Given the description of an element on the screen output the (x, y) to click on. 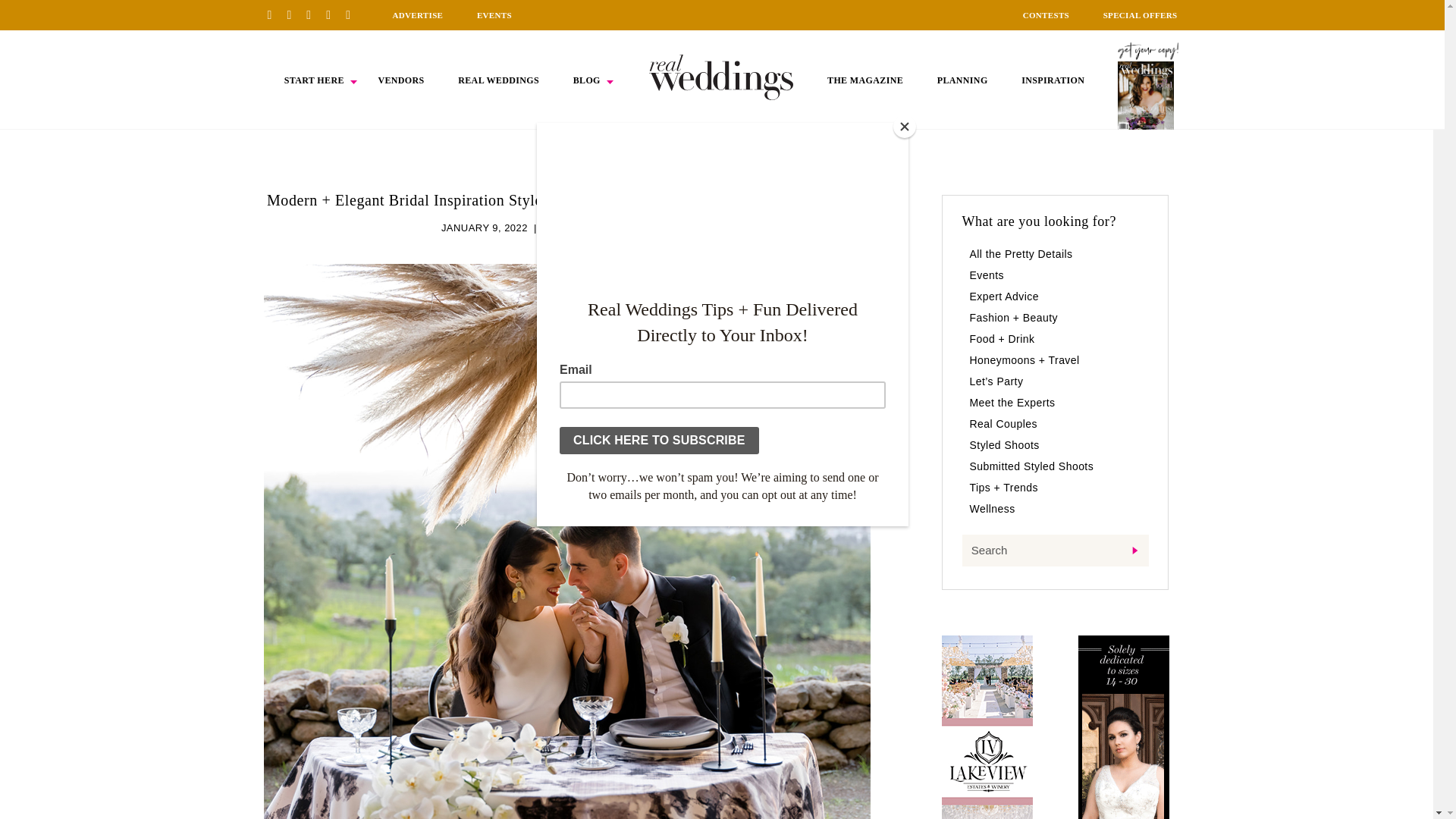
PLANNING (962, 80)
YouTube (353, 14)
HOME (721, 76)
Instagram (313, 14)
ADVERTISE (416, 14)
Facebook (294, 14)
BLOG (586, 80)
Search (1054, 550)
INSPIRATION (1053, 80)
SUBMITTED STYLED SHOOTS (618, 227)
VENDORS (400, 80)
SPECIAL OFFERS (1140, 14)
START HERE (313, 80)
Search (1054, 550)
REAL WEDDINGS (498, 80)
